Given the description of an element on the screen output the (x, y) to click on. 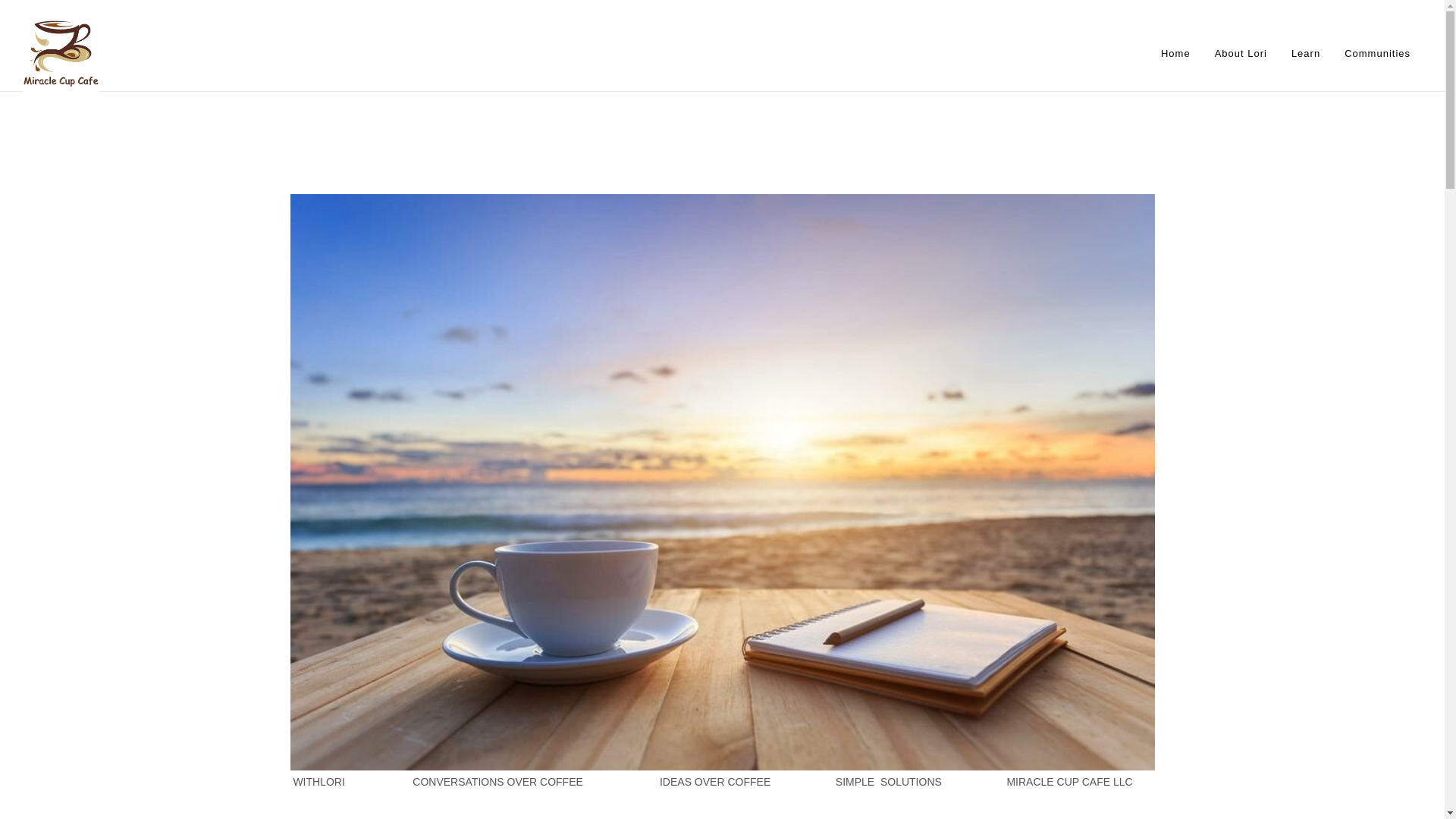
Communities (1377, 53)
About Lori (1241, 53)
